Given the description of an element on the screen output the (x, y) to click on. 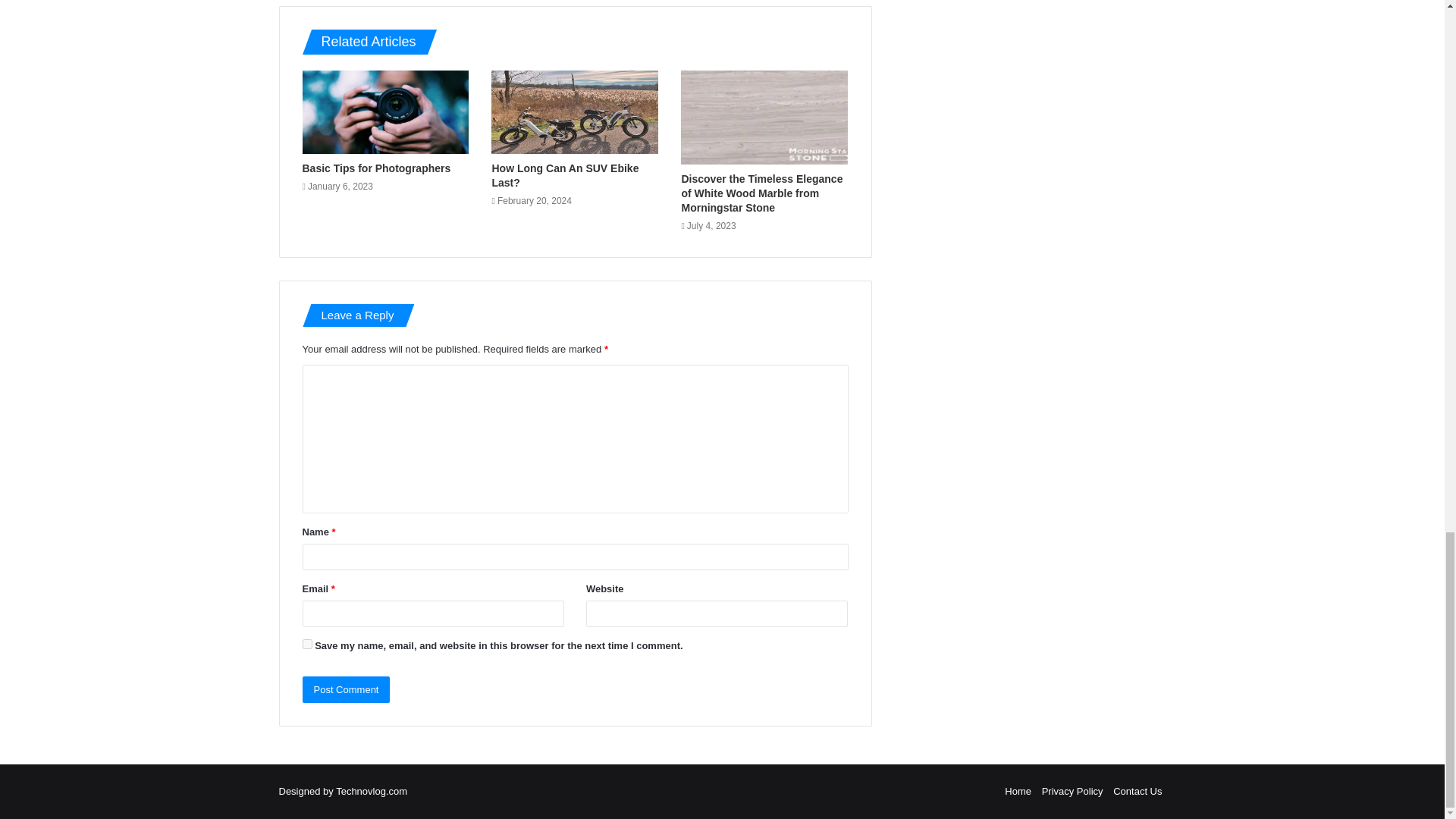
Basic Tips for Photographers (375, 168)
Post Comment (345, 689)
How Long Can An SUV Ebike Last? (565, 175)
yes (306, 644)
